Given the description of an element on the screen output the (x, y) to click on. 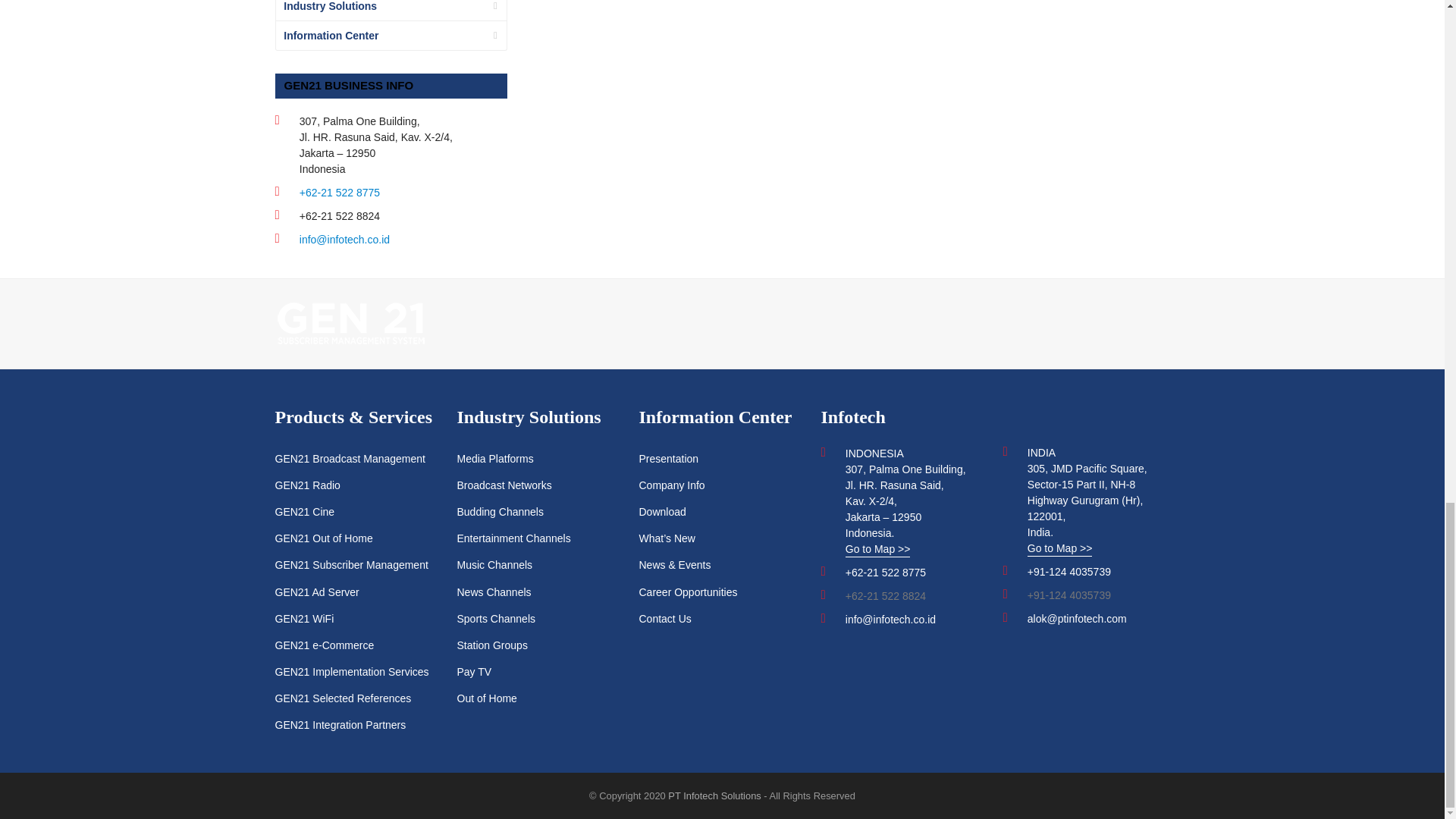
GEN21 SMS (350, 321)
